Given the description of an element on the screen output the (x, y) to click on. 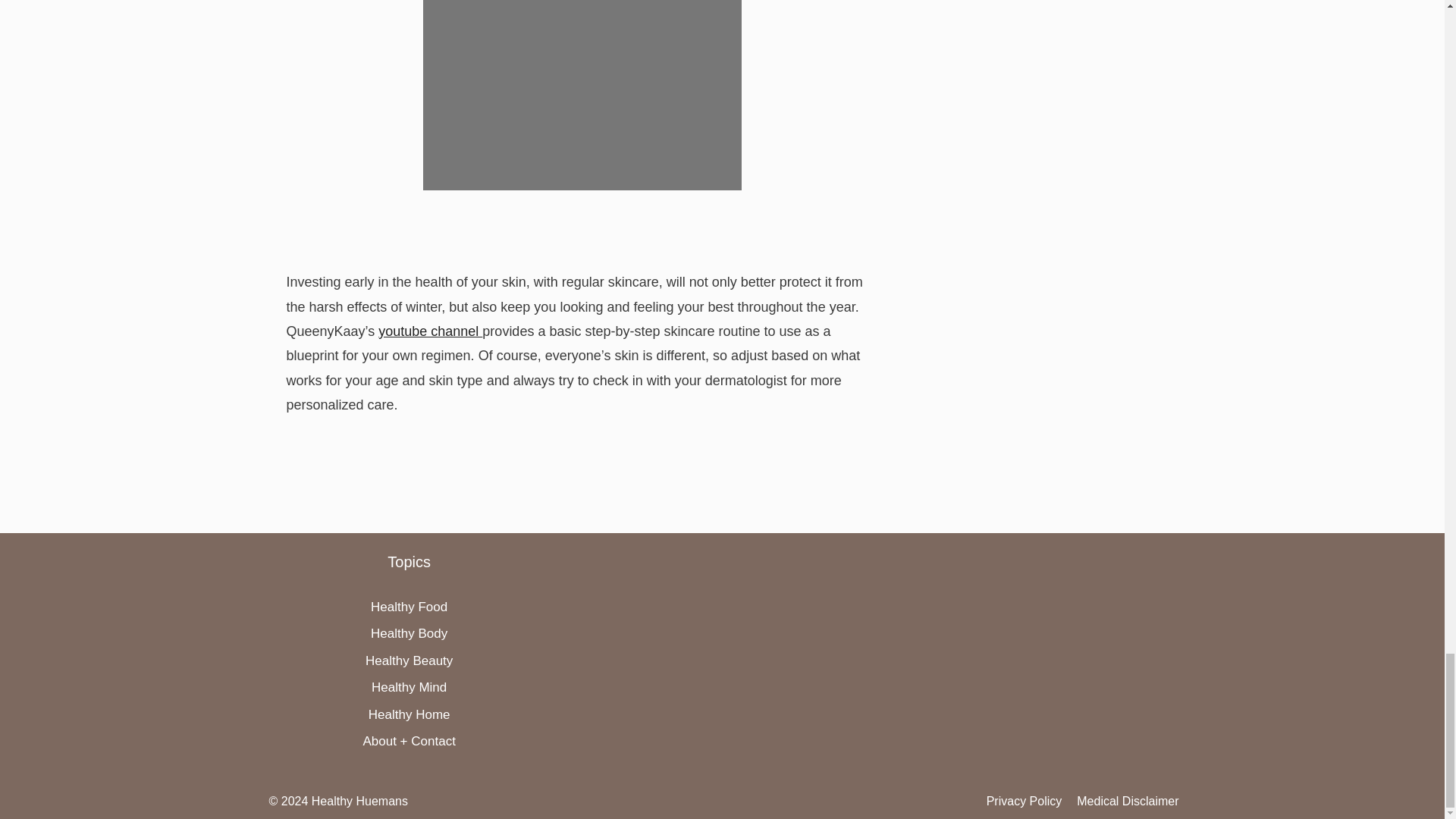
Healthy Food (408, 606)
Medical Disclaimer (1127, 800)
Healthy Mind (408, 687)
Healthy Beauty (408, 660)
Privacy Policy (1024, 800)
Healthy Home (408, 714)
youtube channel (429, 331)
Healthy Body (408, 633)
